Given the description of an element on the screen output the (x, y) to click on. 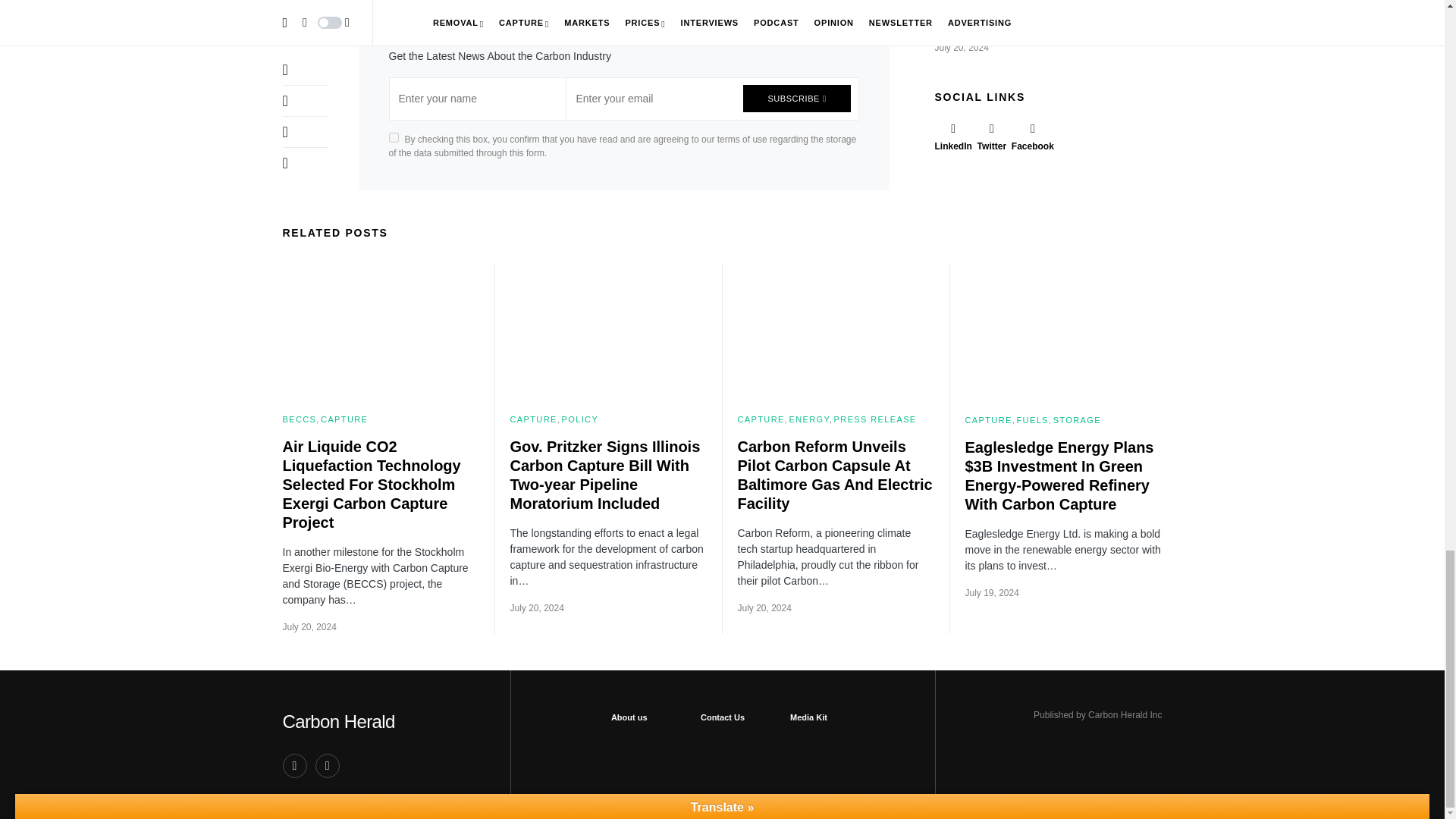
on (392, 136)
